Given the description of an element on the screen output the (x, y) to click on. 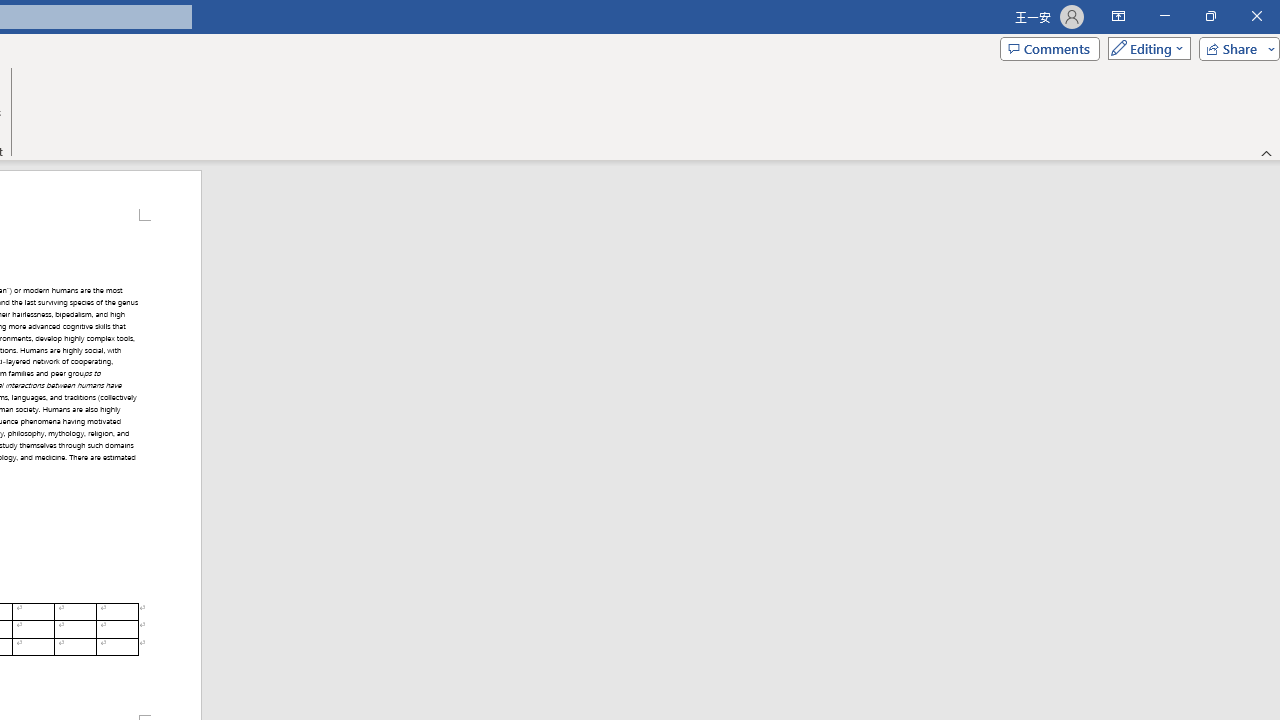
Editing (1144, 47)
